Given the description of an element on the screen output the (x, y) to click on. 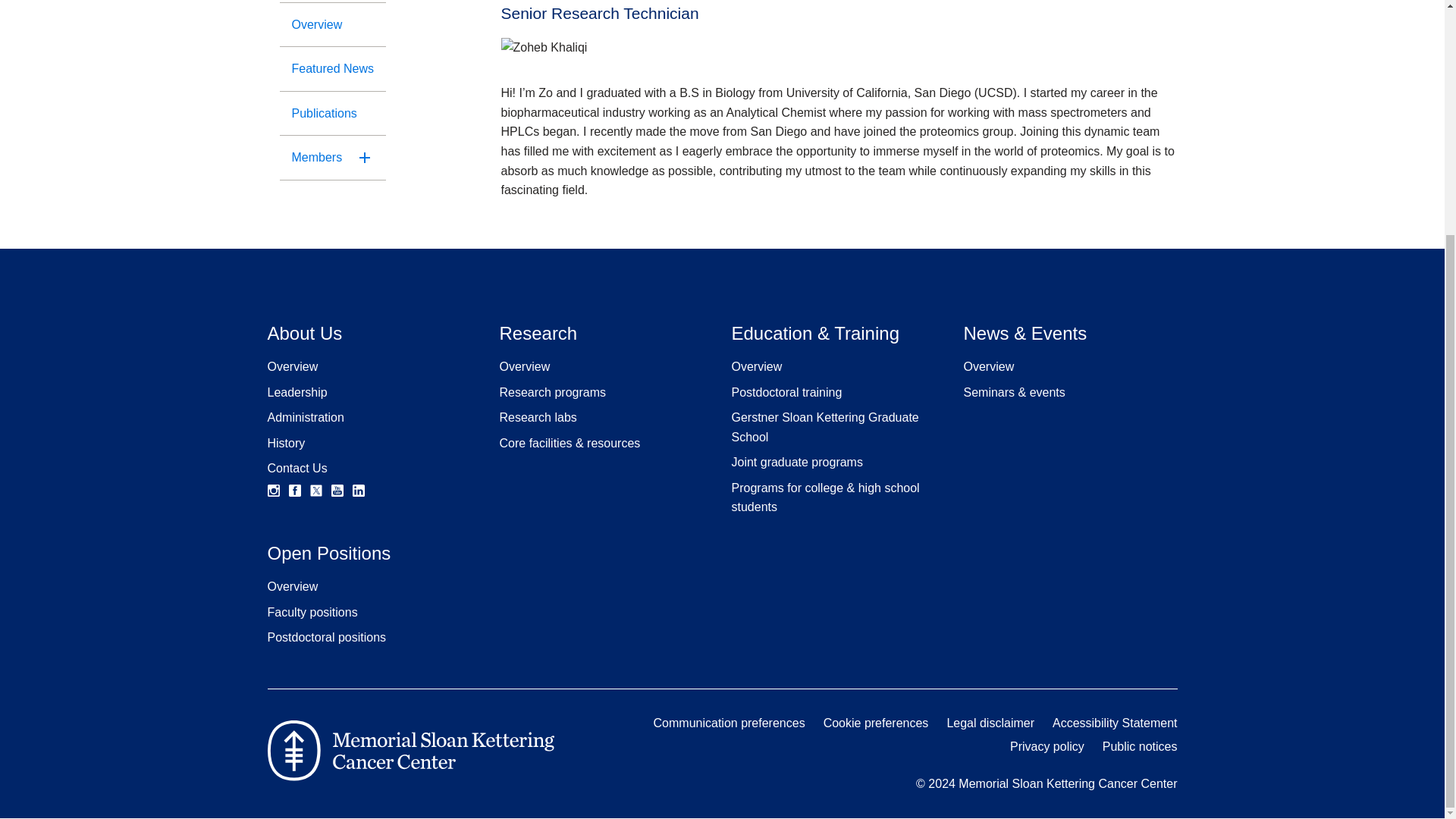
Proteomics (332, 1)
Overview (332, 24)
History (285, 442)
Featured News (332, 68)
Publications (332, 113)
Leadership (296, 391)
Memorial Sloan Kettering Cancer Center (409, 750)
Instagram (272, 490)
Administration (304, 417)
Contact Us (296, 468)
